Given the description of an element on the screen output the (x, y) to click on. 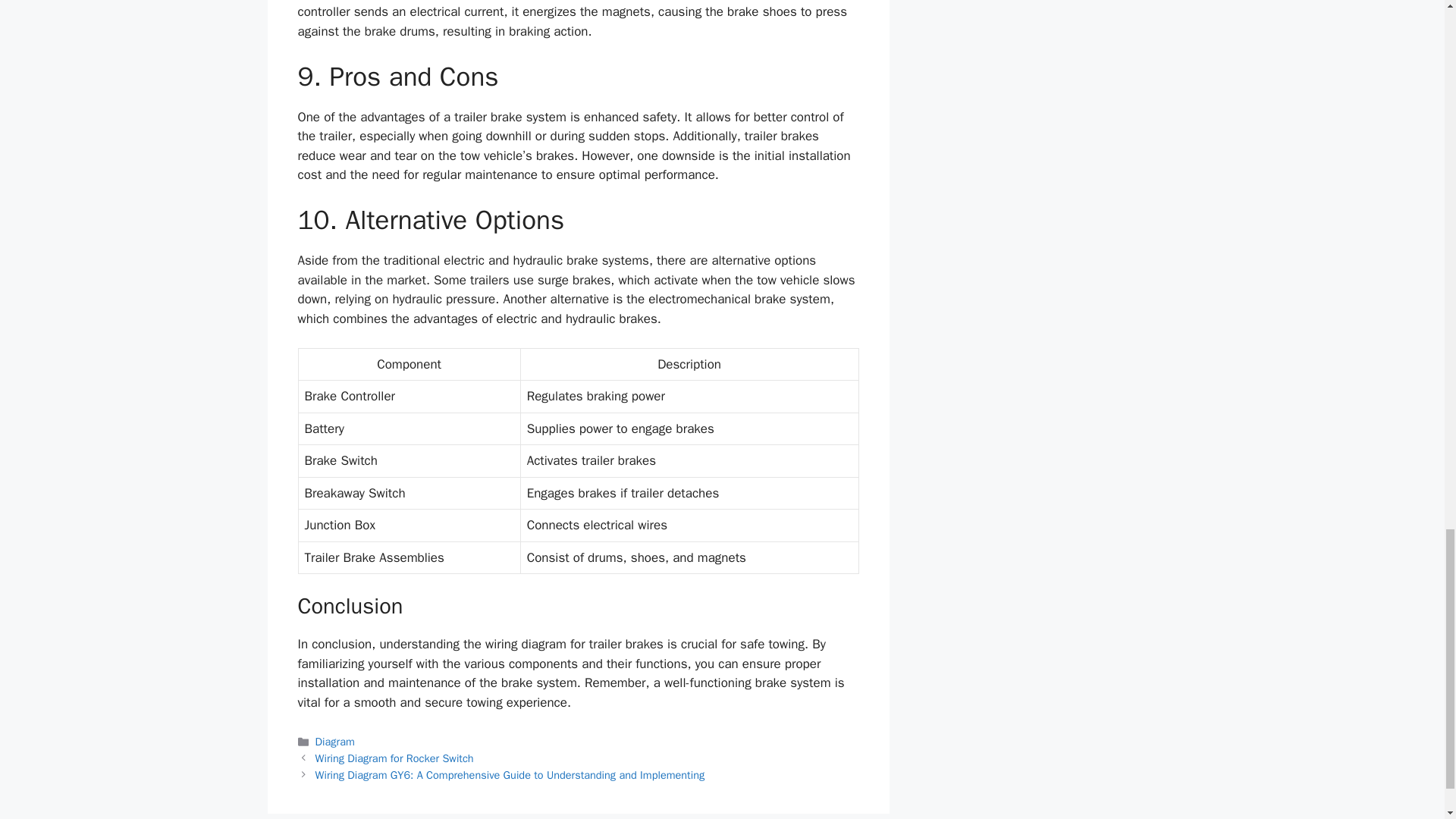
Diagram (335, 741)
Wiring Diagram for Rocker Switch (394, 757)
